Given the description of an element on the screen output the (x, y) to click on. 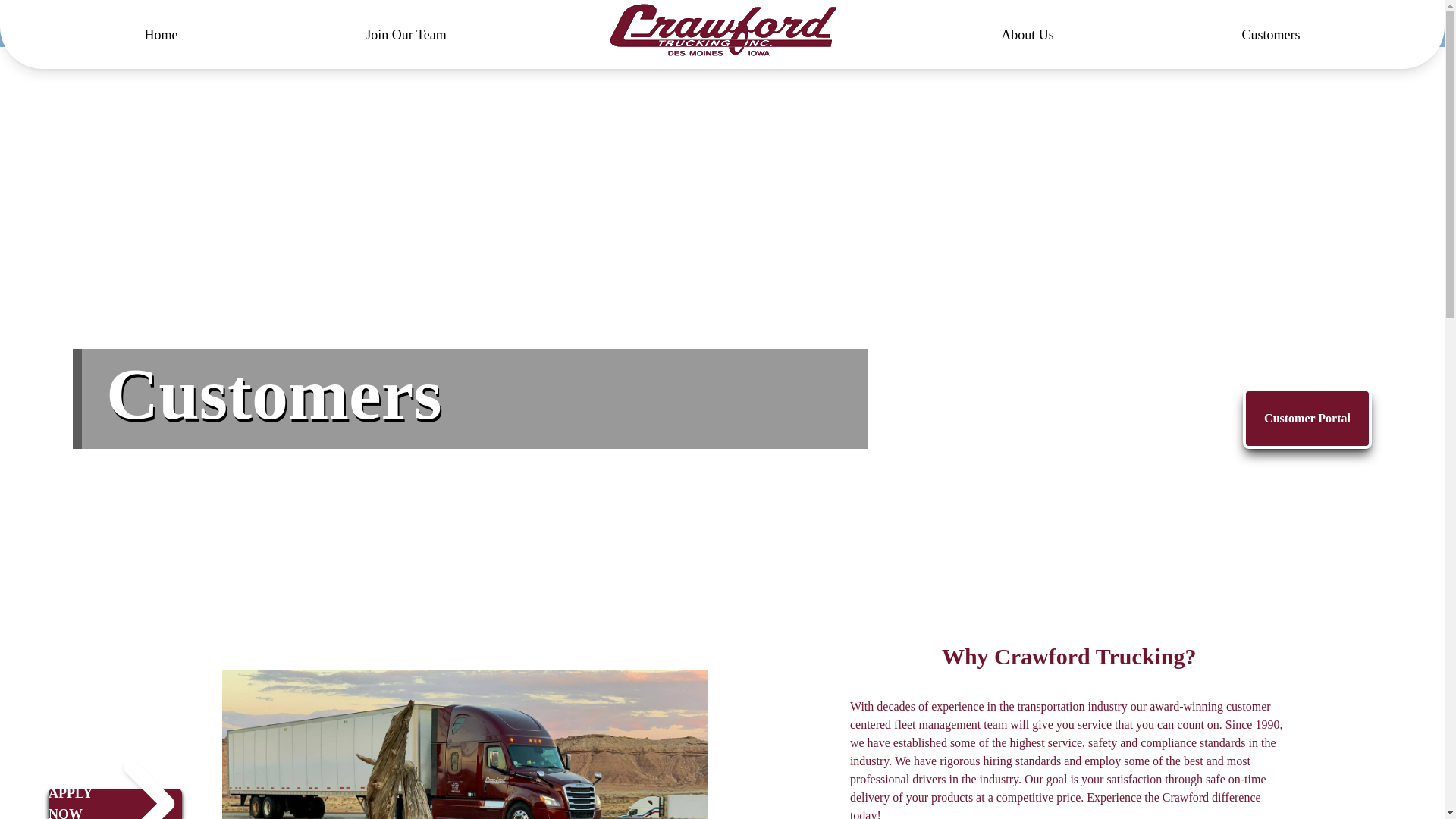
Customer Portal (1307, 418)
About Us (1027, 34)
Join Our Team (405, 34)
Home (173, 34)
Customers (1258, 34)
APPLY NOW (72, 800)
